Given the description of an element on the screen output the (x, y) to click on. 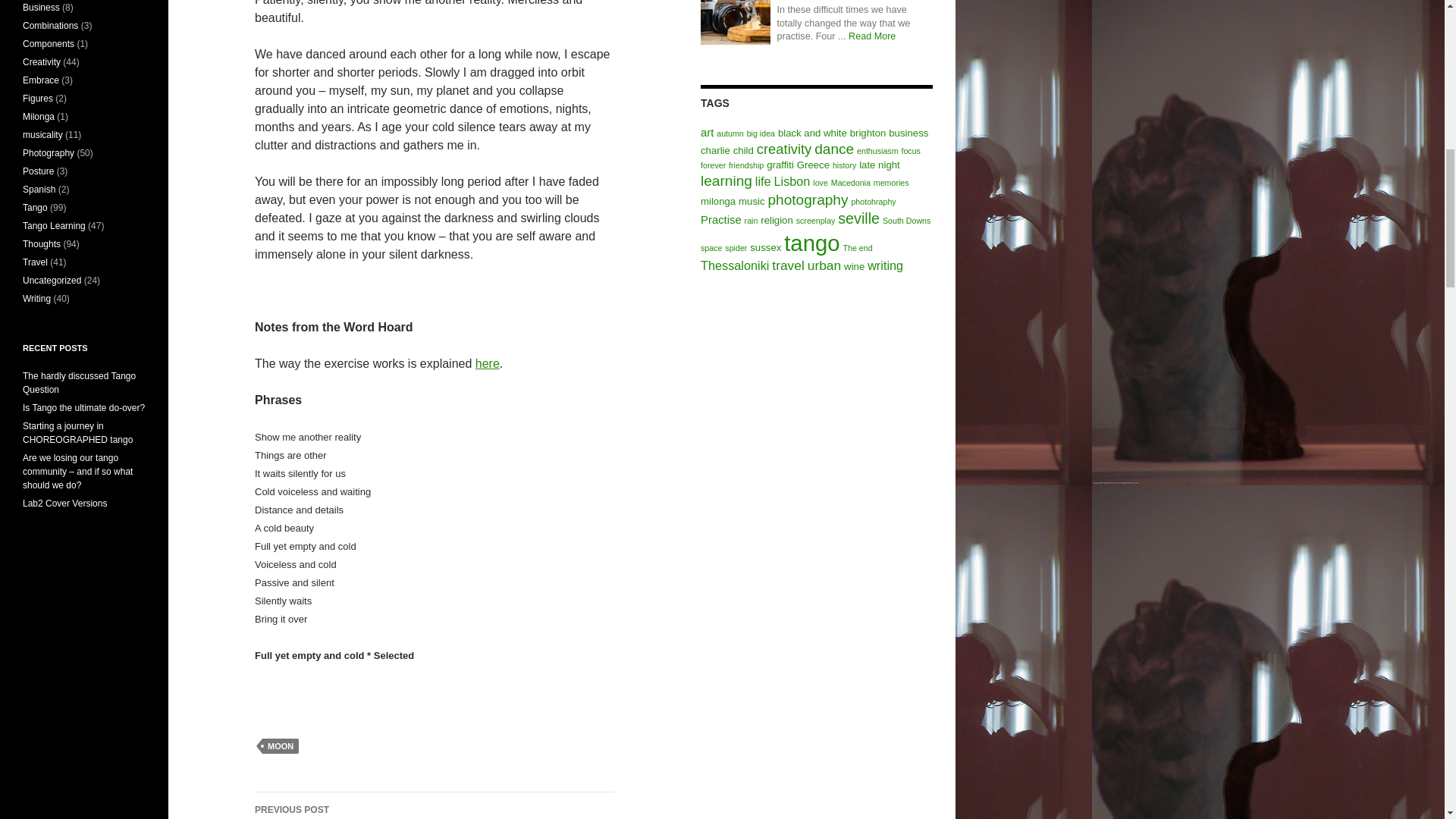
MOON (280, 745)
Word Hoarding Exercise (487, 363)
here (434, 805)
